Given the description of an element on the screen output the (x, y) to click on. 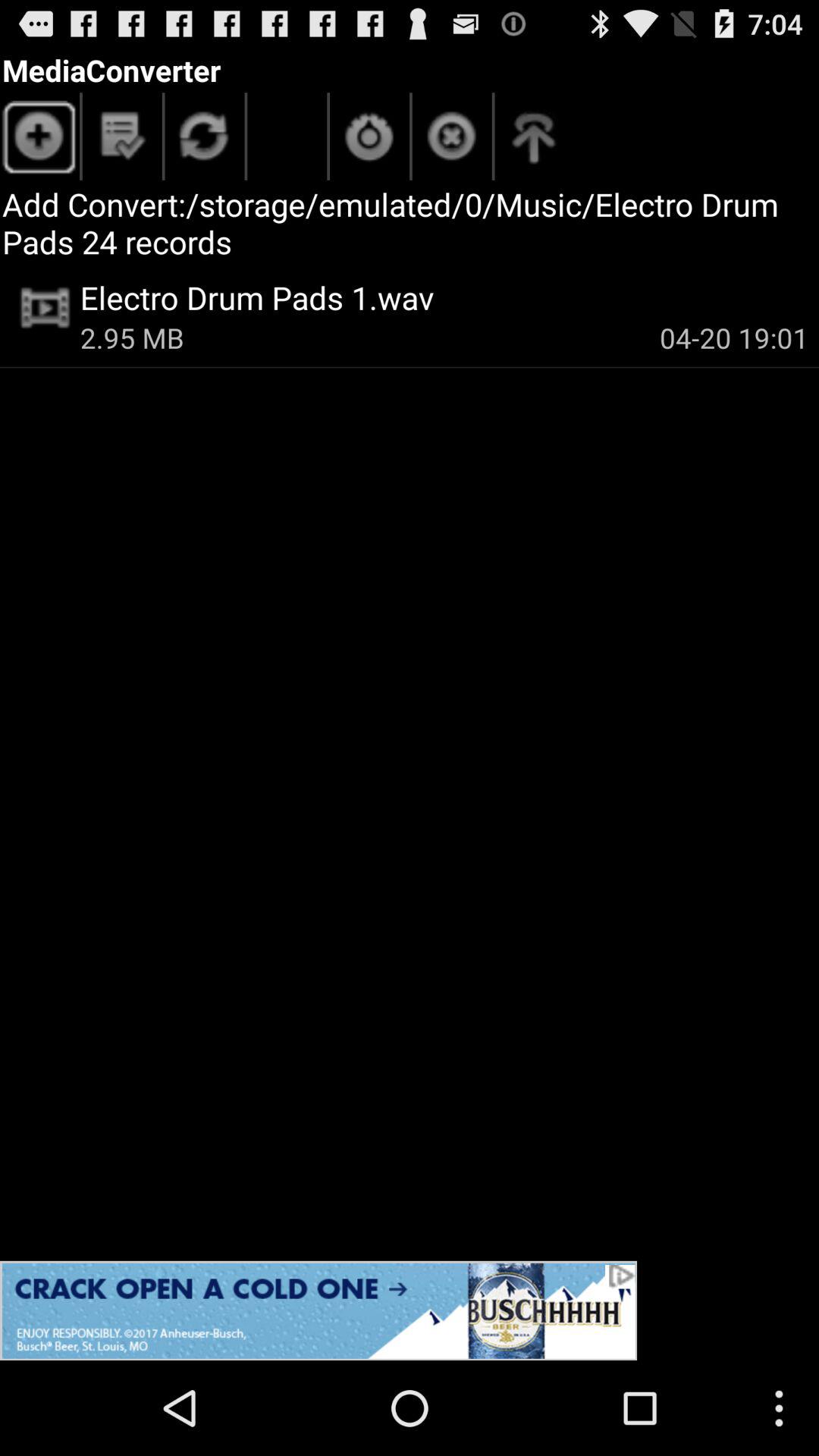
add media (39, 140)
